Given the description of an element on the screen output the (x, y) to click on. 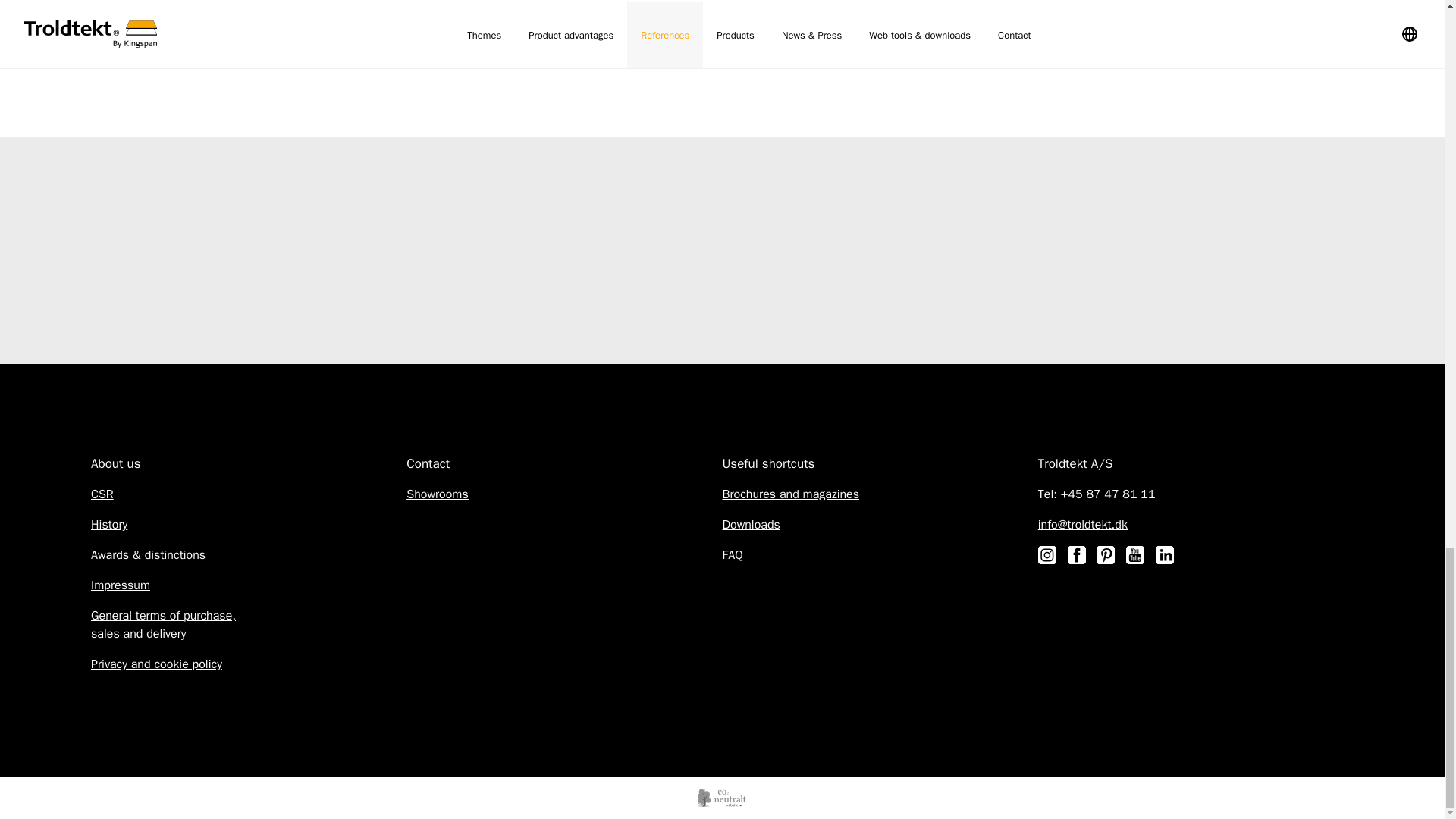
CSR (101, 494)
Om os (115, 463)
Download materialer (750, 524)
Data og cookiepolitik (156, 663)
Kontakt (427, 463)
Impressum (119, 585)
Priser og udmaerkelser (147, 554)
Showrooms (436, 494)
Historie (109, 524)
Salgs- og leveringsbetingelser (162, 624)
Brochurer (790, 494)
Frequently asked questions (732, 554)
